Given the description of an element on the screen output the (x, y) to click on. 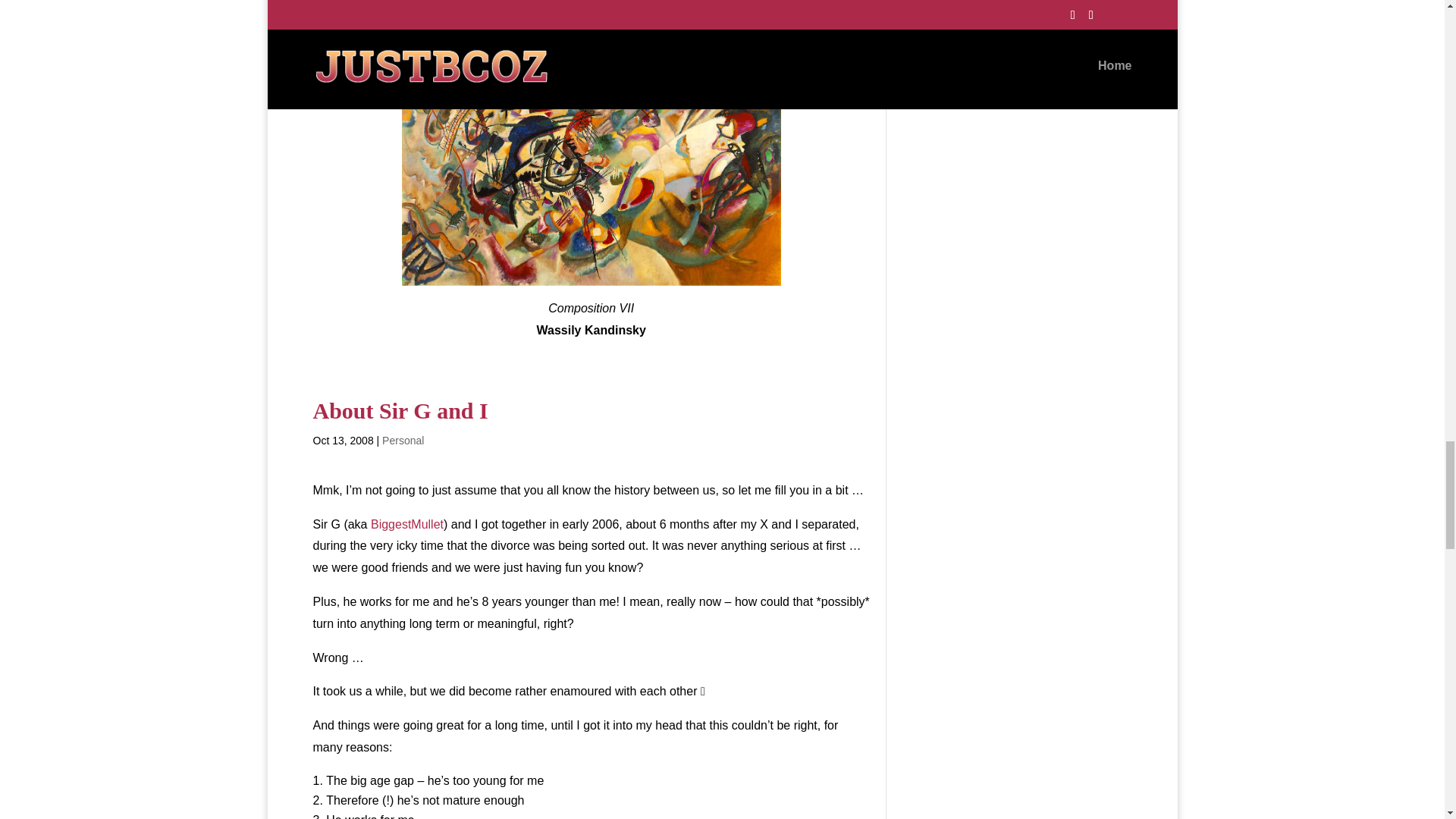
Personal (402, 440)
BiggestMullet (407, 523)
kandinskycomp-7 (590, 159)
About Sir G and I (400, 410)
